Given the description of an element on the screen output the (x, y) to click on. 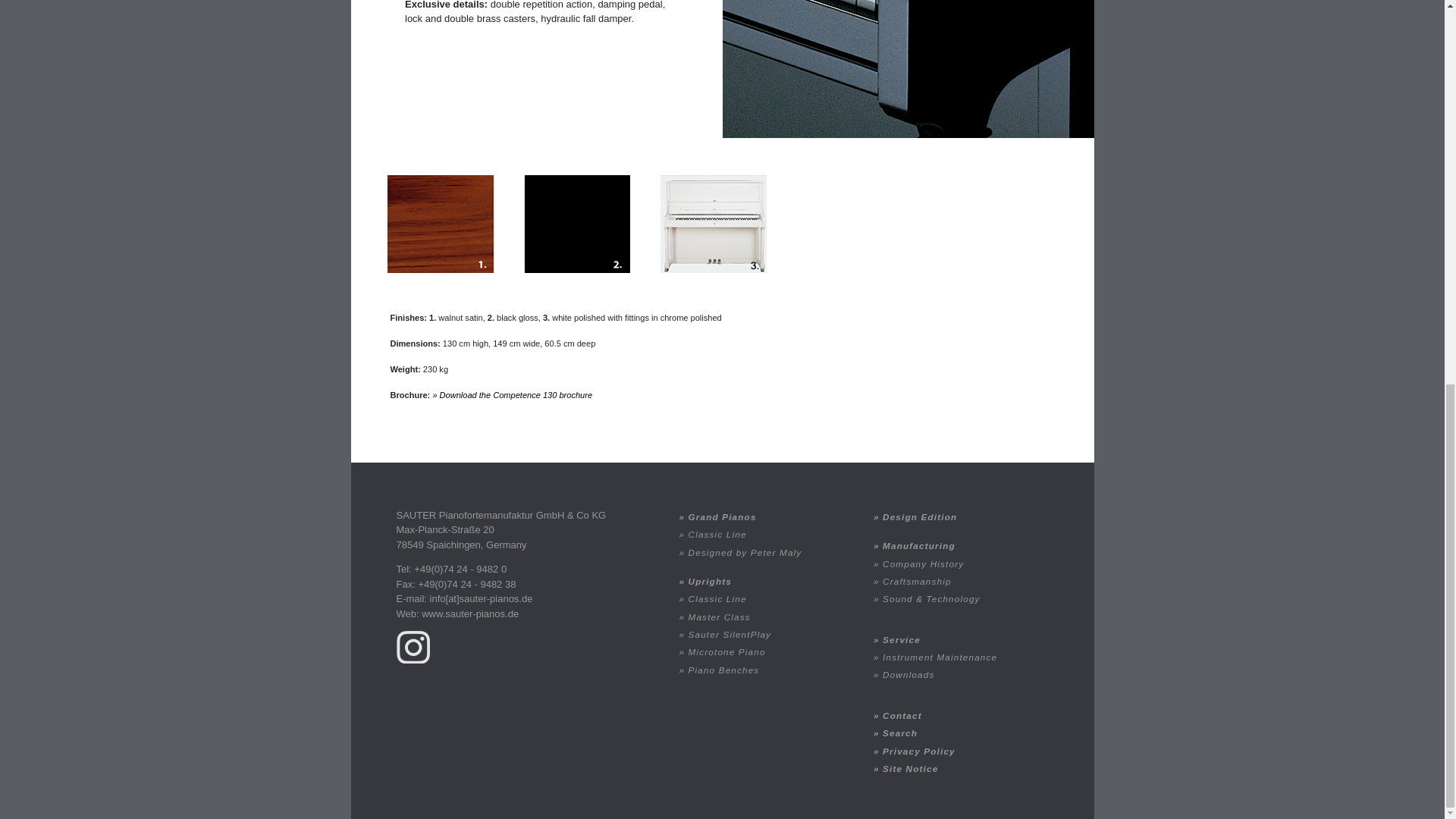
www.sauter-pianos.de (470, 613)
Classic Line (763, 533)
Uprights (763, 580)
Download the Competence 130 brochure (512, 394)
Sauter on Instagram (412, 645)
Grand Pianos (763, 516)
Classic Line (763, 598)
Designed by Peter Maly (763, 551)
